Given the description of an element on the screen output the (x, y) to click on. 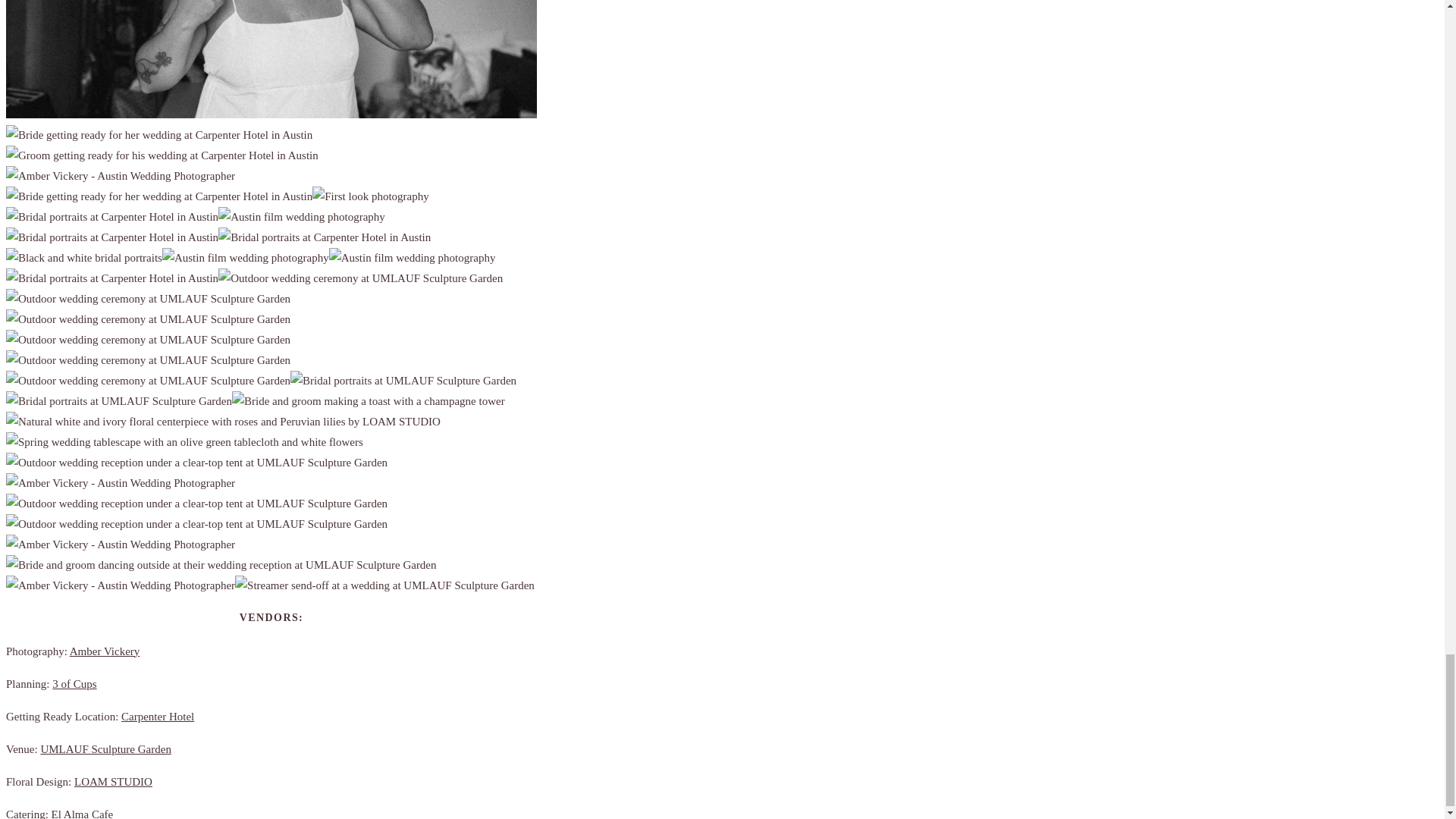
3 of Cups (74, 684)
UMLAUF Sculpture Garden (105, 748)
Carpenter Hotel (156, 716)
Amber Vickery (104, 651)
LOAM STUDIO (113, 781)
